Given the description of an element on the screen output the (x, y) to click on. 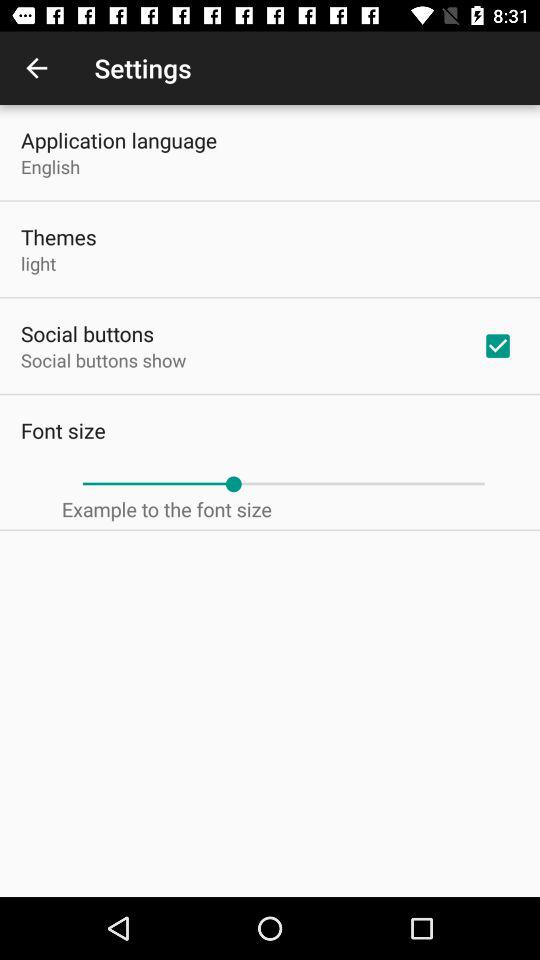
choose item above social buttons icon (38, 263)
